Given the description of an element on the screen output the (x, y) to click on. 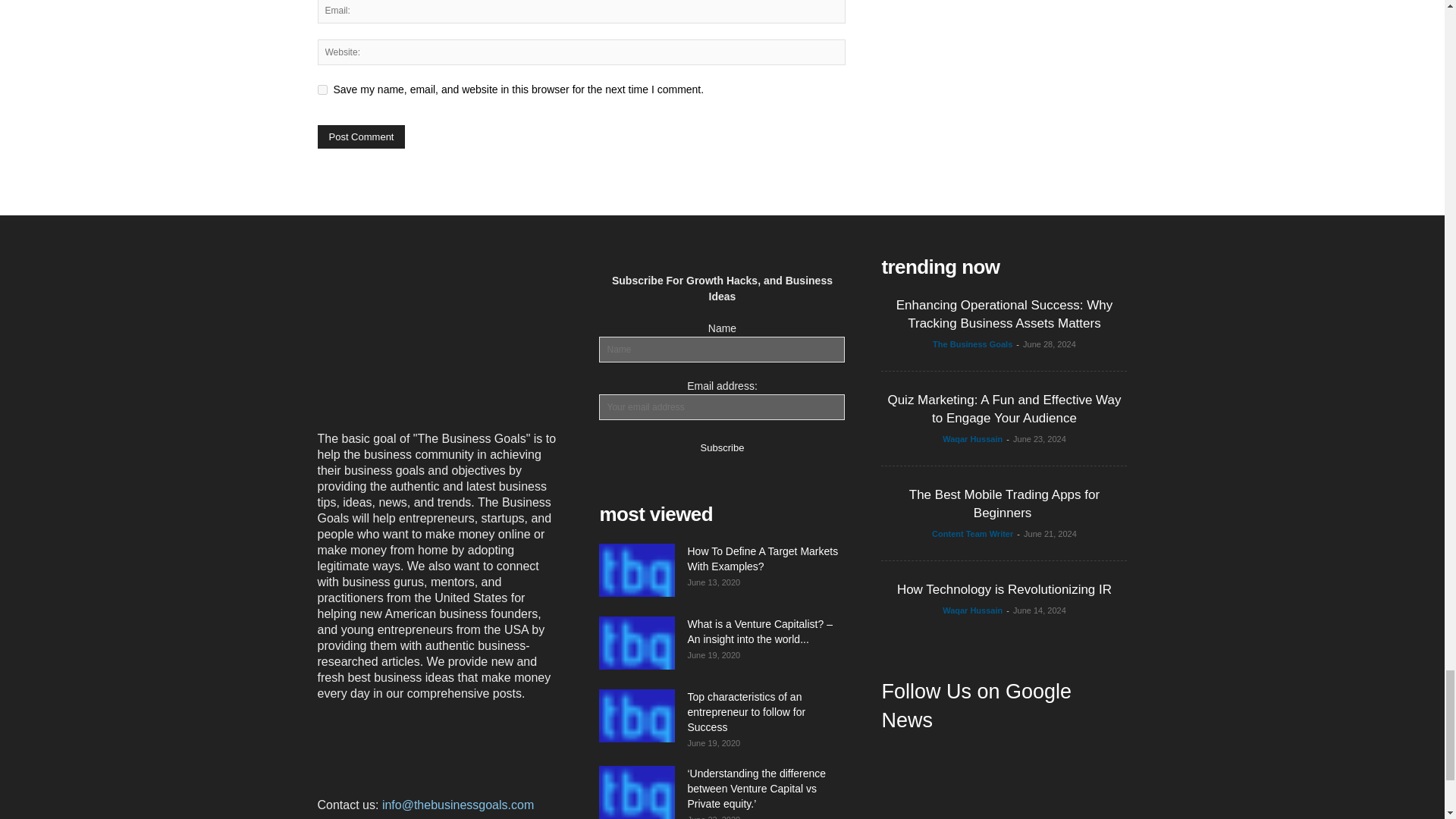
yes (321, 90)
Subscribe (721, 446)
Post Comment (360, 136)
